Given the description of an element on the screen output the (x, y) to click on. 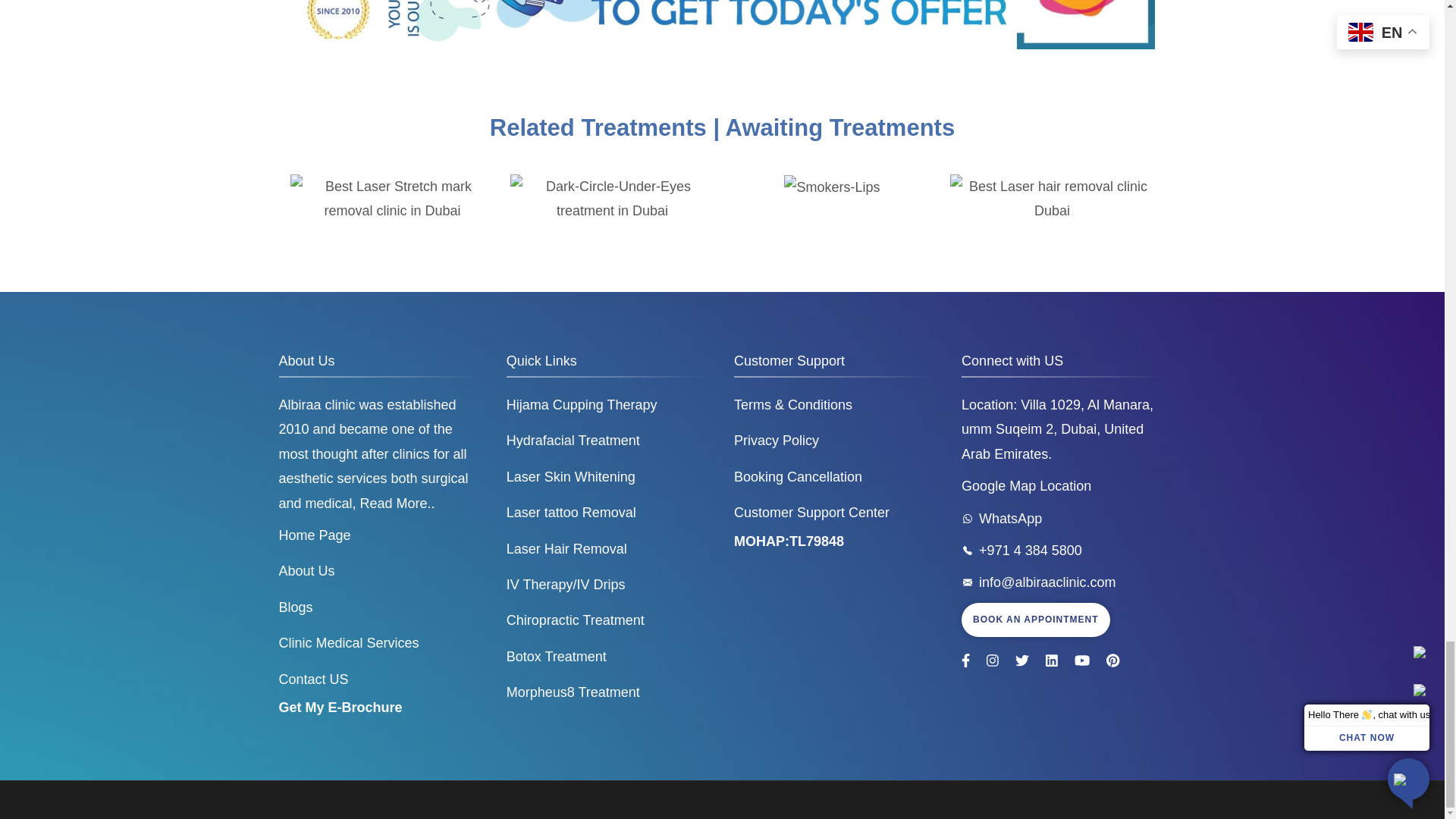
Laser-hair-removal (1051, 198)
Laser-Stretchmark-removal (392, 198)
Dark-Circle-Under-Eyes (611, 198)
Smokers-Lips (831, 187)
